Given the description of an element on the screen output the (x, y) to click on. 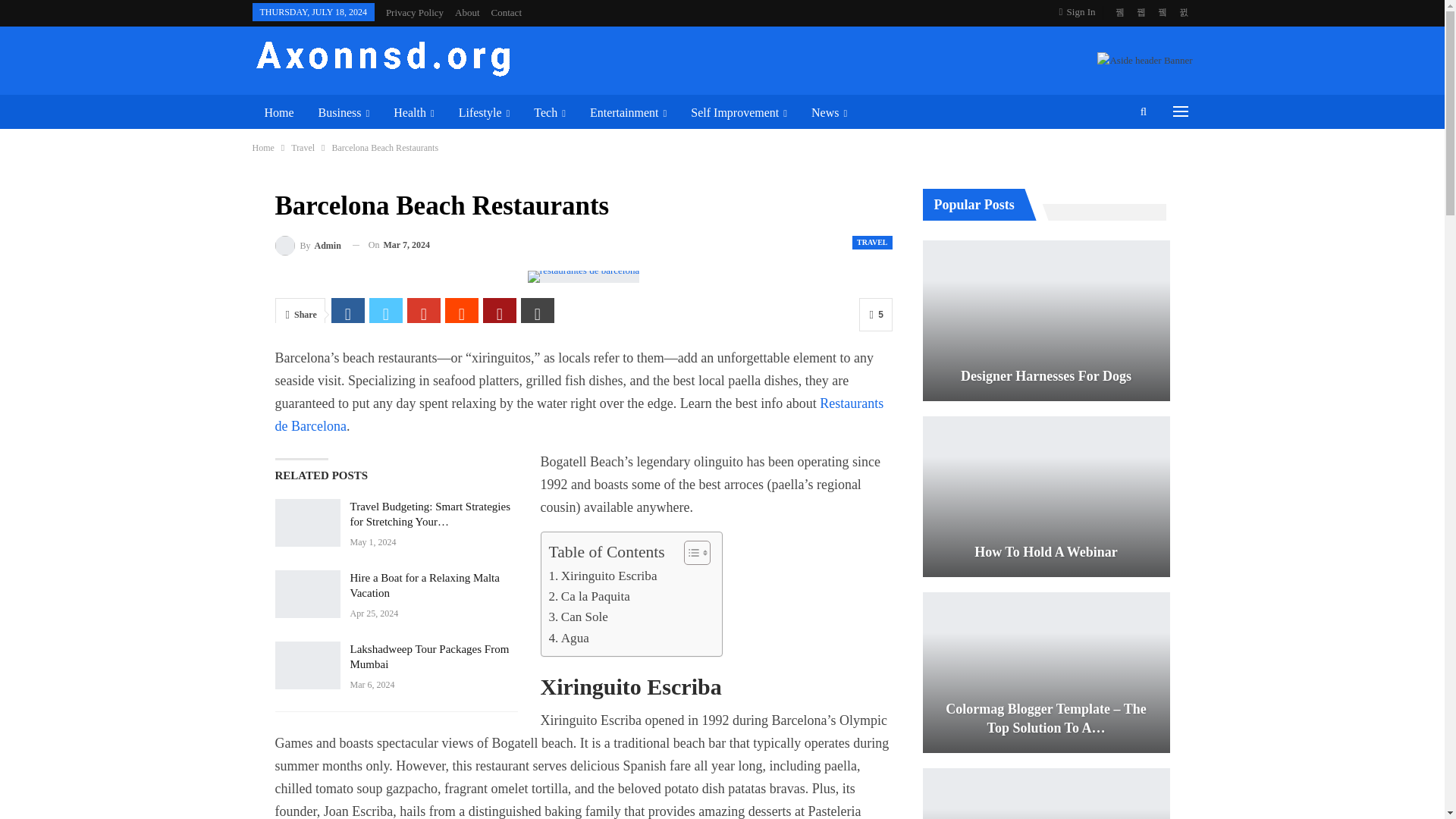
Hire a Boat for a Relaxing Malta Vacation (307, 594)
About (467, 12)
Agua (568, 638)
Contact (506, 12)
Ca la Paquita (589, 596)
Sign In (1080, 12)
Can Sole (578, 616)
Health (413, 113)
Privacy Policy (414, 12)
Xiringuito Escriba (603, 575)
Business (343, 113)
Home (278, 113)
Lakshadweep Tour Packages From Mumbai (307, 665)
Browse Author Articles (307, 245)
